Given the description of an element on the screen output the (x, y) to click on. 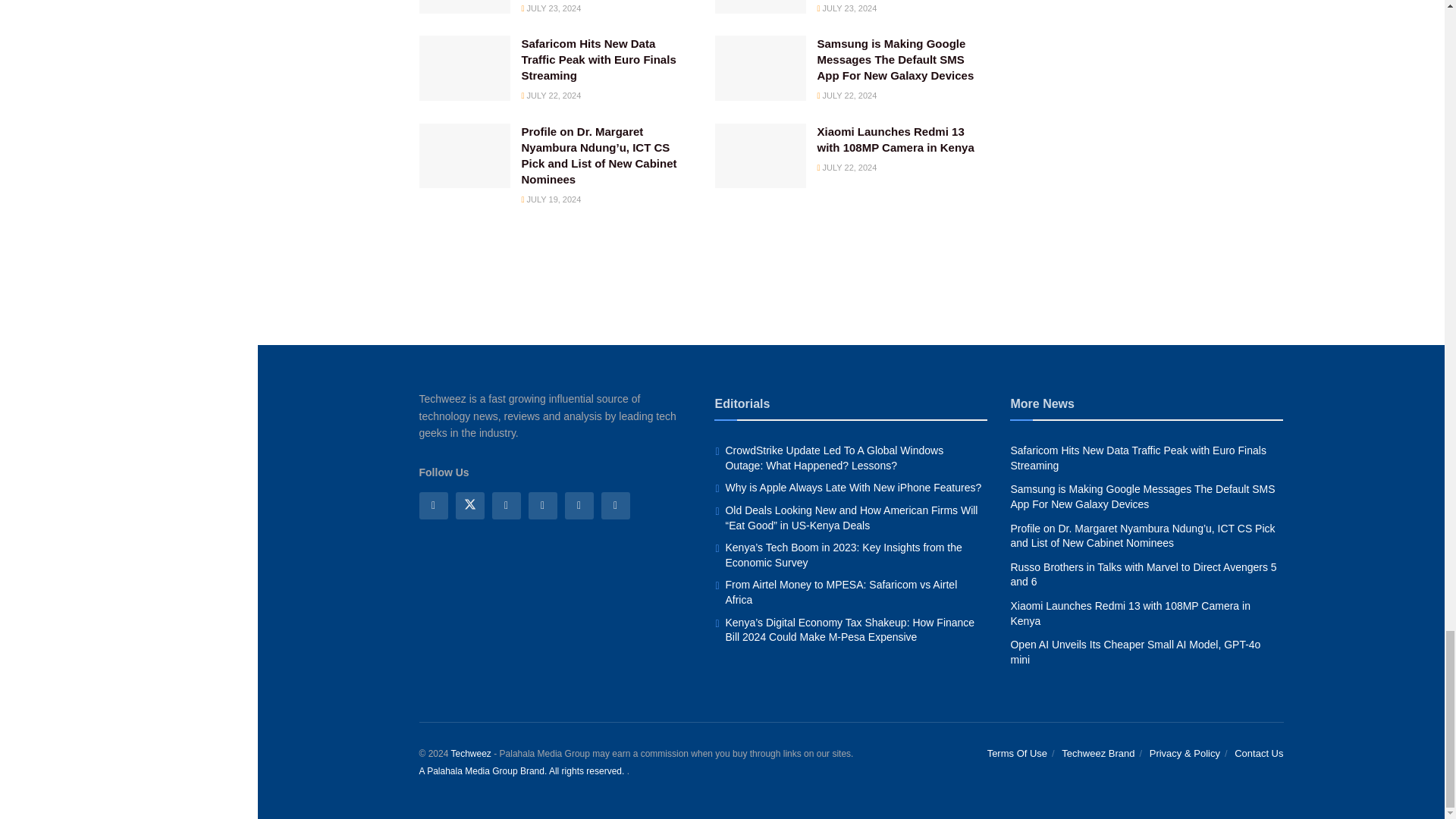
Techweez, a Palahala Media Group Brand. All rights reserved (469, 753)
